Given the description of an element on the screen output the (x, y) to click on. 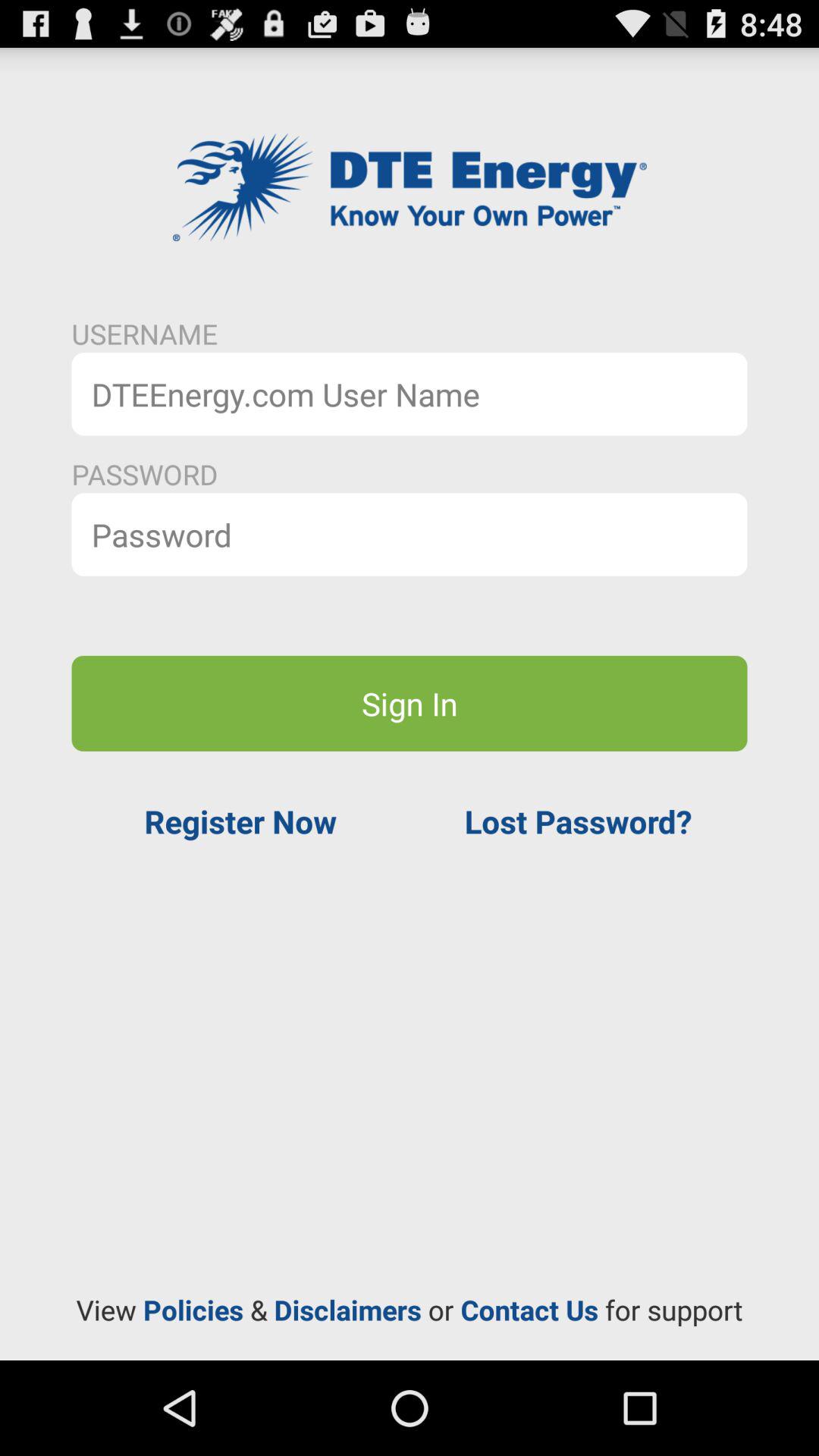
open view policies disclaimers item (409, 1309)
